Given the description of an element on the screen output the (x, y) to click on. 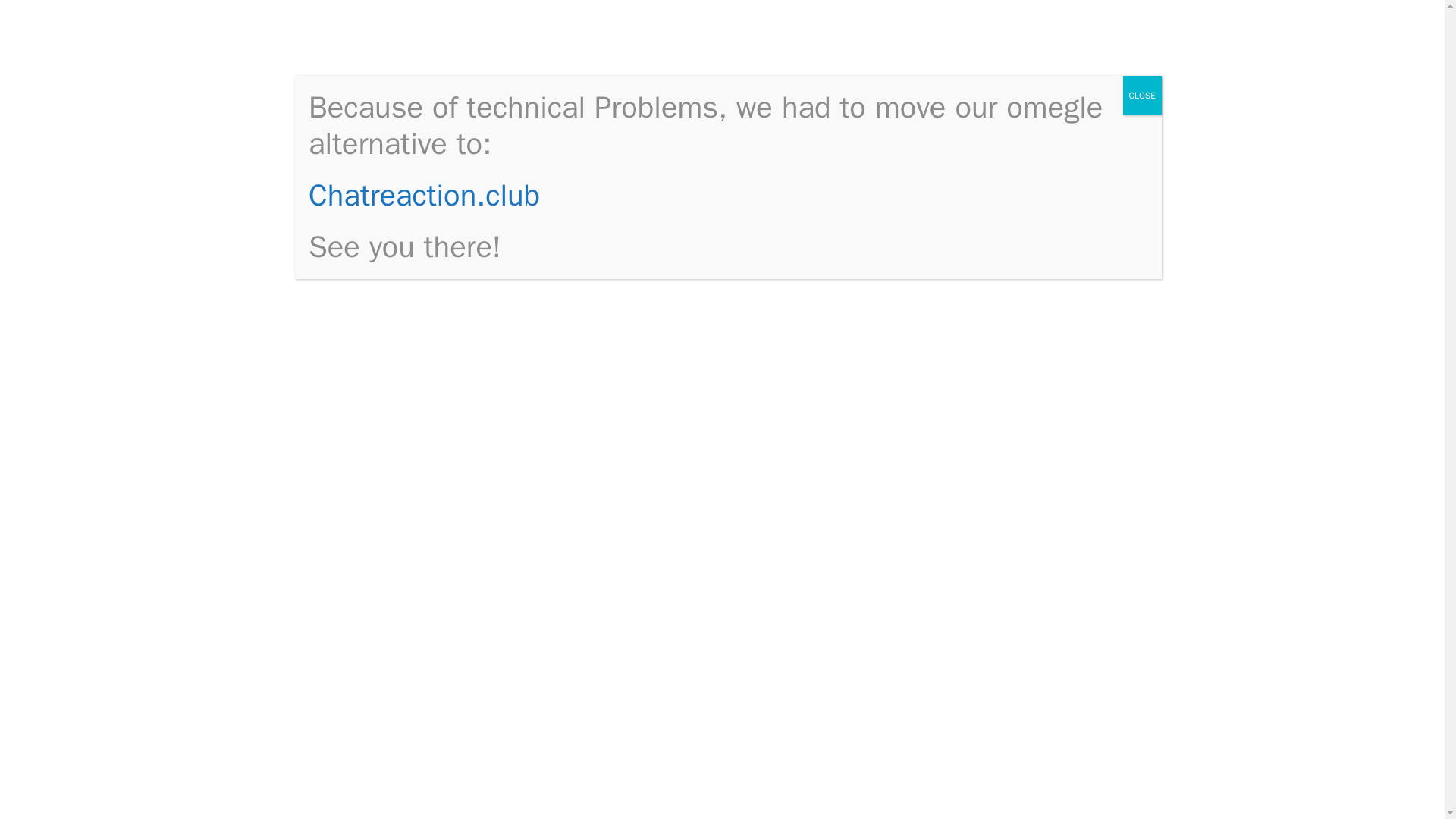
Post Comment (391, 606)
Kik single girls (387, 44)
